Given the description of an element on the screen output the (x, y) to click on. 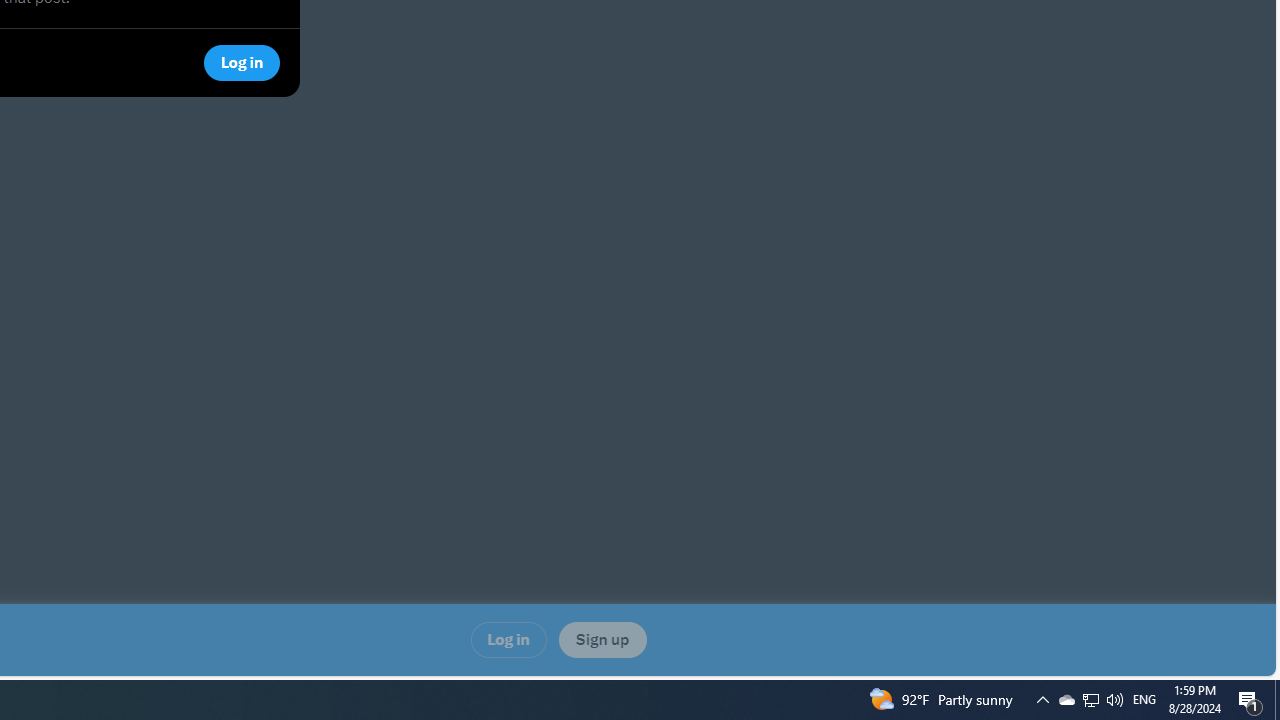
Log in (507, 640)
Sign up (602, 640)
